Given the description of an element on the screen output the (x, y) to click on. 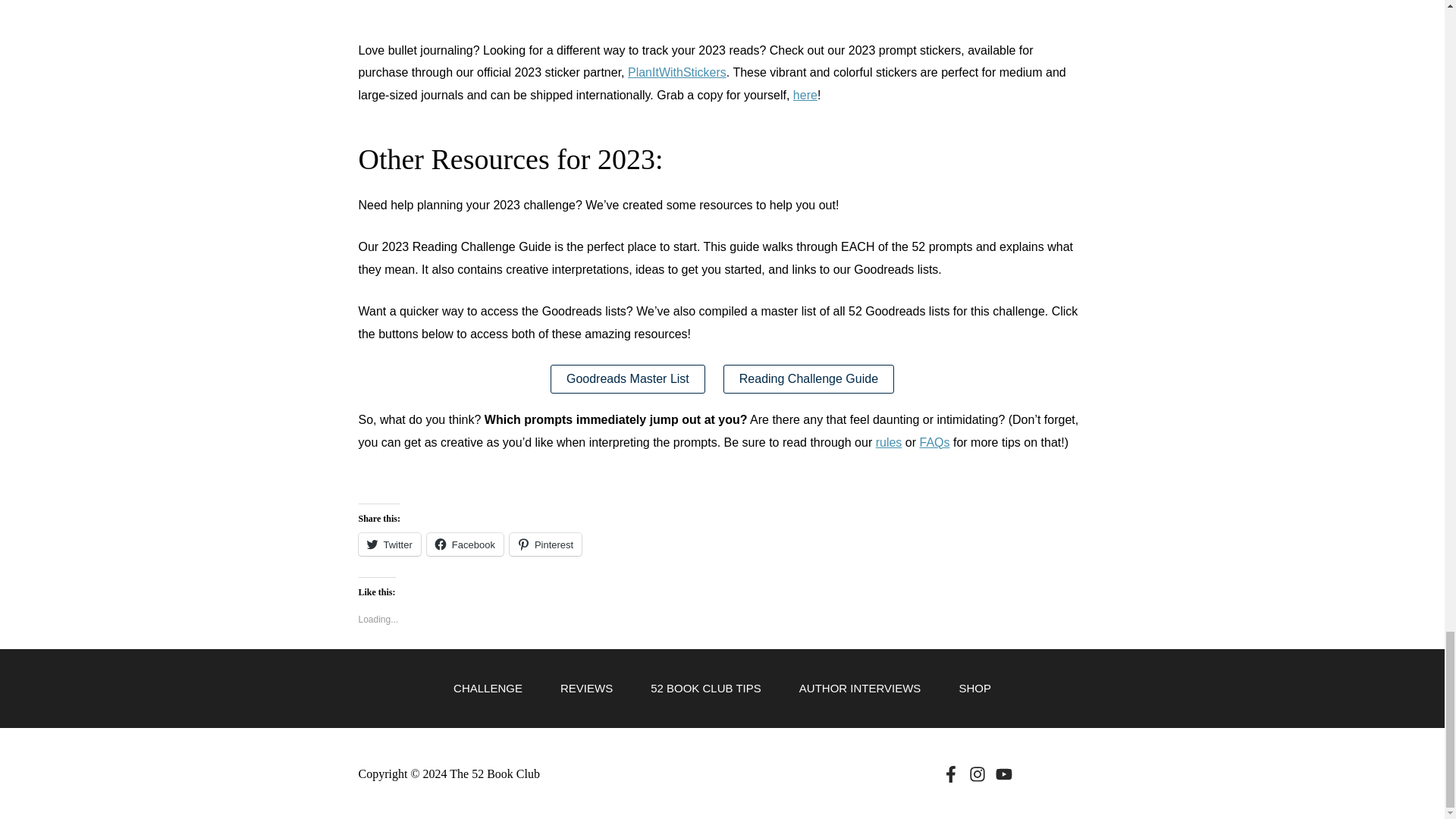
Click to share on Twitter (389, 544)
Click to share on Facebook (464, 544)
Click to share on Pinterest (544, 544)
